Given the description of an element on the screen output the (x, y) to click on. 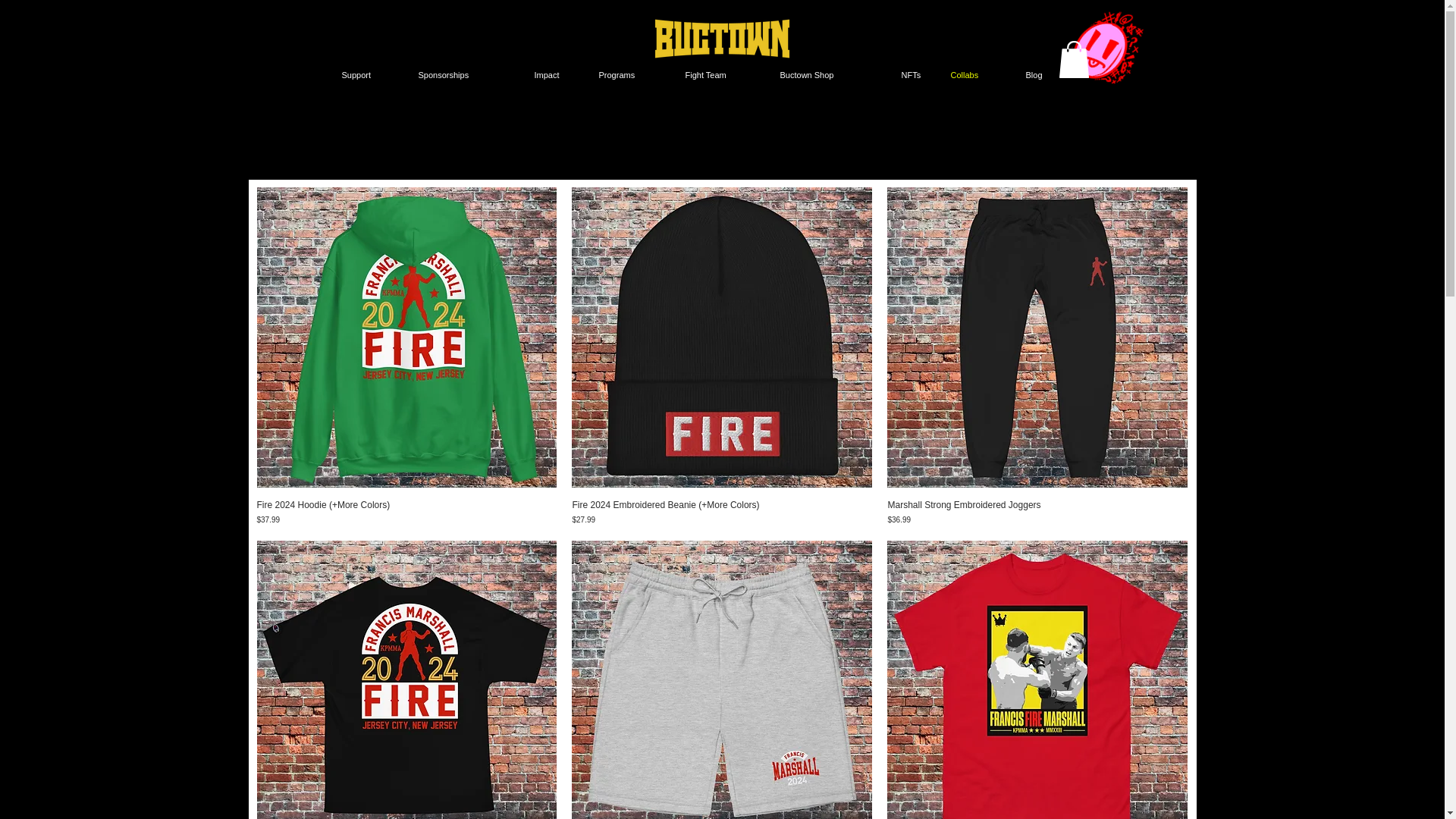
Programs (634, 74)
Impact (558, 74)
Fight Team (725, 74)
Support (371, 74)
Blog (1042, 74)
Collabs (980, 74)
NFTs (917, 74)
Buctown Shop (832, 74)
Sponsorships (468, 74)
